Given the description of an element on the screen output the (x, y) to click on. 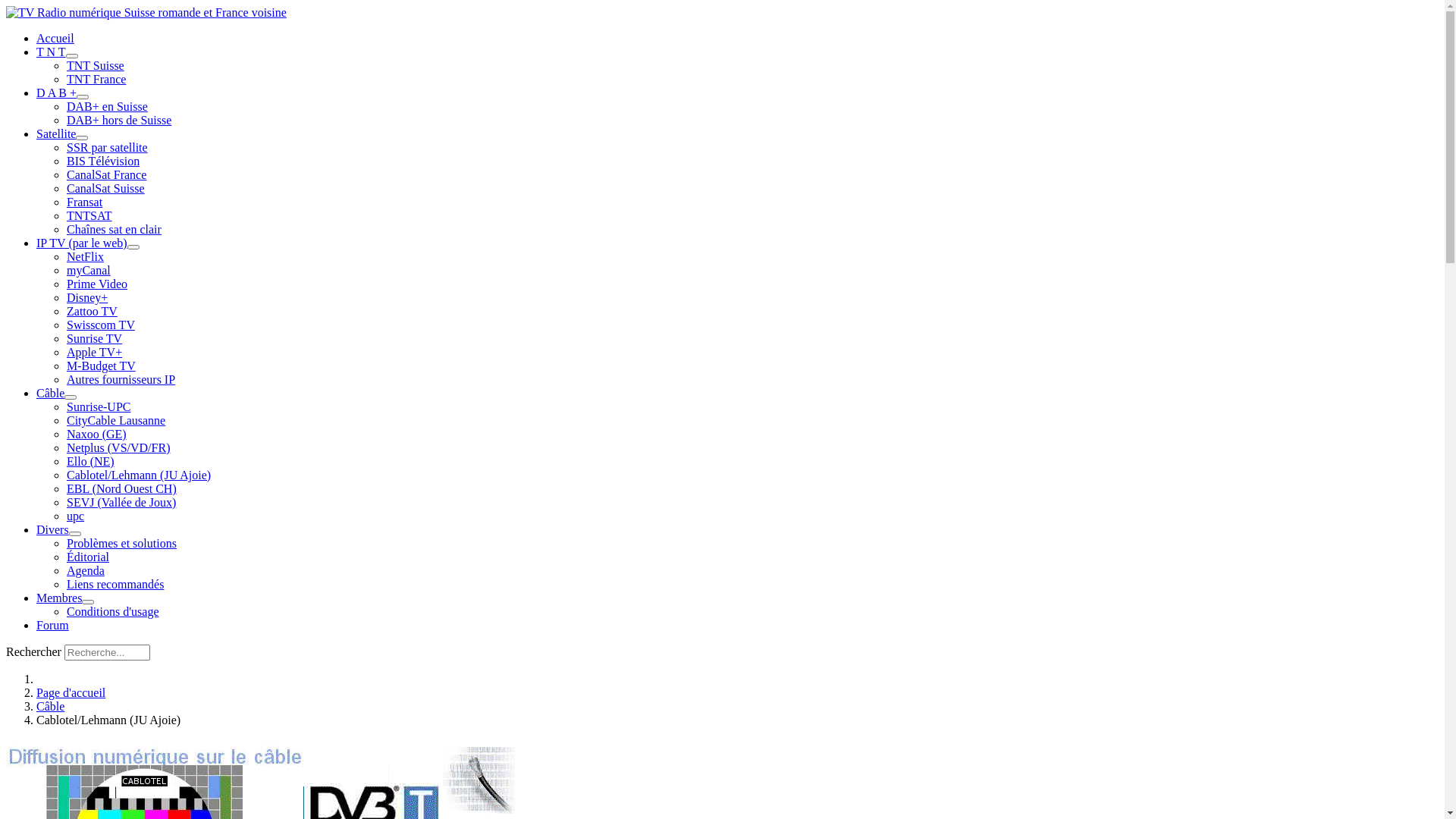
Cablotel/Lehmann (JU Ajoie) Element type: text (138, 474)
Satellite Element type: text (55, 133)
TNTSAT Element type: text (89, 215)
Netplus (VS/VD/FR) Element type: text (117, 447)
Swisscom TV Element type: text (100, 324)
D A B + Element type: text (56, 92)
DAB+ en Suisse Element type: text (106, 106)
CanalSat France Element type: text (106, 174)
Autres fournisseurs IP Element type: text (120, 379)
Accueil Element type: text (55, 37)
NetFlix Element type: text (84, 256)
Agenda Element type: text (85, 570)
Disney+ Element type: text (86, 297)
Naxoo (GE) Element type: text (96, 433)
Apple TV+ Element type: text (94, 351)
myCanal Element type: text (88, 269)
SSR par satellite Element type: text (106, 147)
Forum Element type: text (52, 624)
Divers Element type: text (52, 529)
DAB+ hors de Suisse Element type: text (118, 119)
Membres Element type: text (58, 597)
IP TV (par le web) Element type: text (81, 242)
upc Element type: text (75, 515)
Sunrise TV Element type: text (94, 338)
Zattoo TV Element type: text (91, 310)
TNT Suisse Element type: text (95, 65)
Sunrise-UPC Element type: text (98, 406)
T N T Element type: text (50, 51)
Fransat Element type: text (84, 201)
M-Budget TV Element type: text (100, 365)
EBL (Nord Ouest CH) Element type: text (121, 488)
Page d'accueil Element type: text (70, 692)
Conditions d'usage Element type: text (112, 611)
CityCable Lausanne Element type: text (115, 420)
TNT France Element type: text (95, 78)
CanalSat Suisse Element type: text (105, 188)
Prime Video Element type: text (96, 283)
Ello (NE) Element type: text (90, 461)
